Given the description of an element on the screen output the (x, y) to click on. 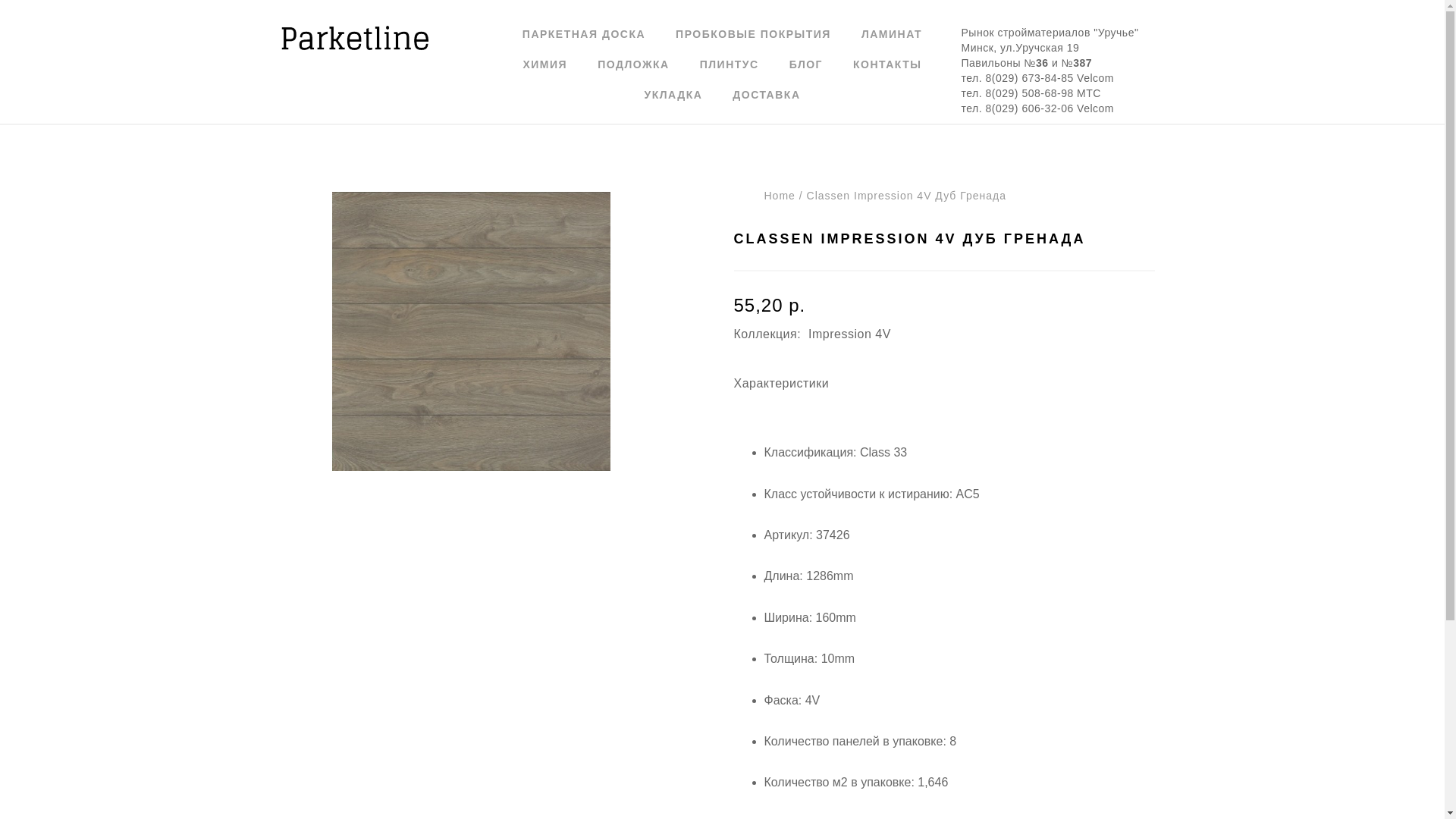
Home Element type: text (779, 195)
parketline.by Element type: hover (356, 38)
